Given the description of an element on the screen output the (x, y) to click on. 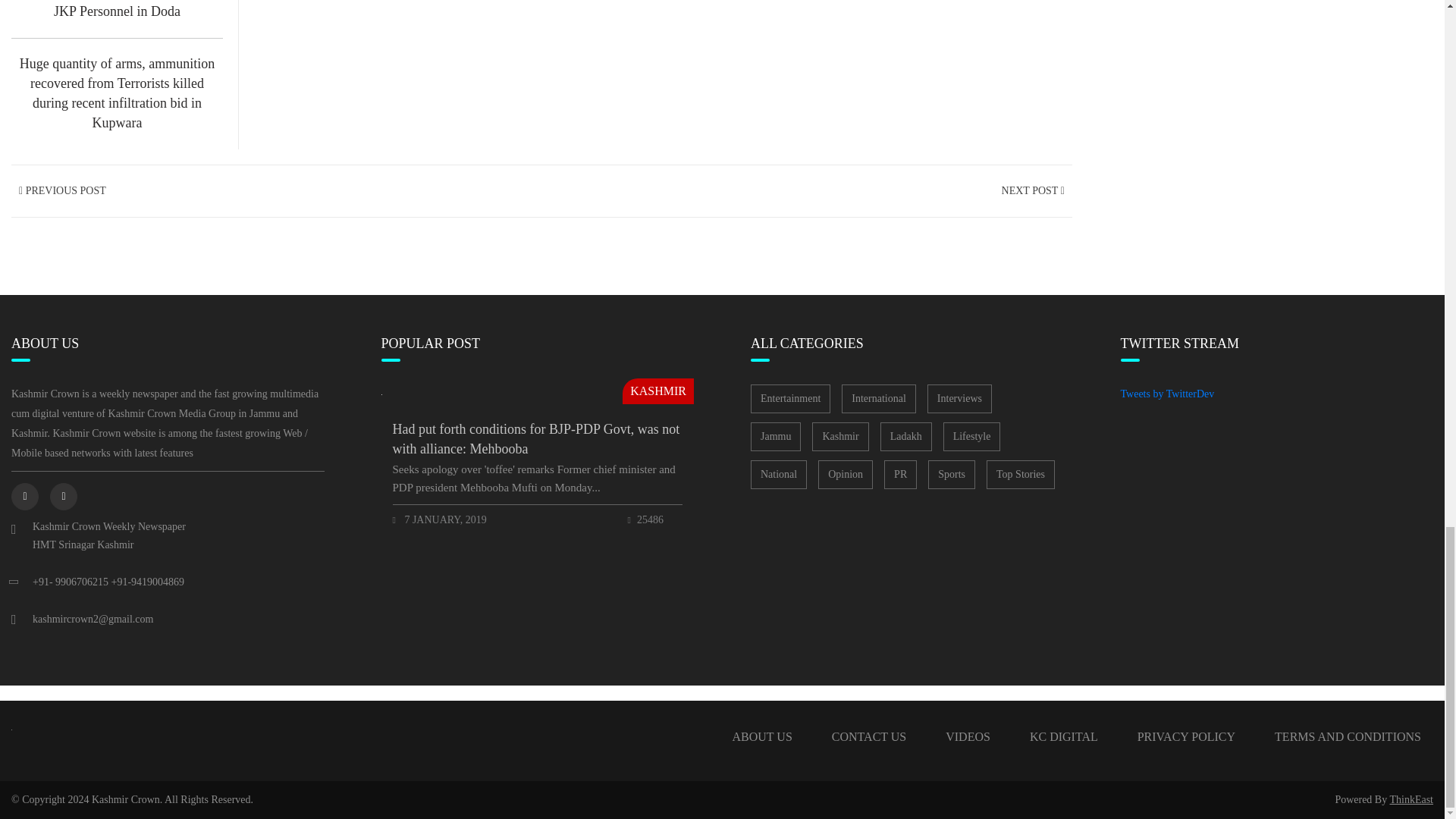
Videos (968, 736)
Contact Us (868, 736)
LG Condemns Attack on Army and JKP Personnel in Doda (116, 10)
About Us (762, 736)
